Given the description of an element on the screen output the (x, y) to click on. 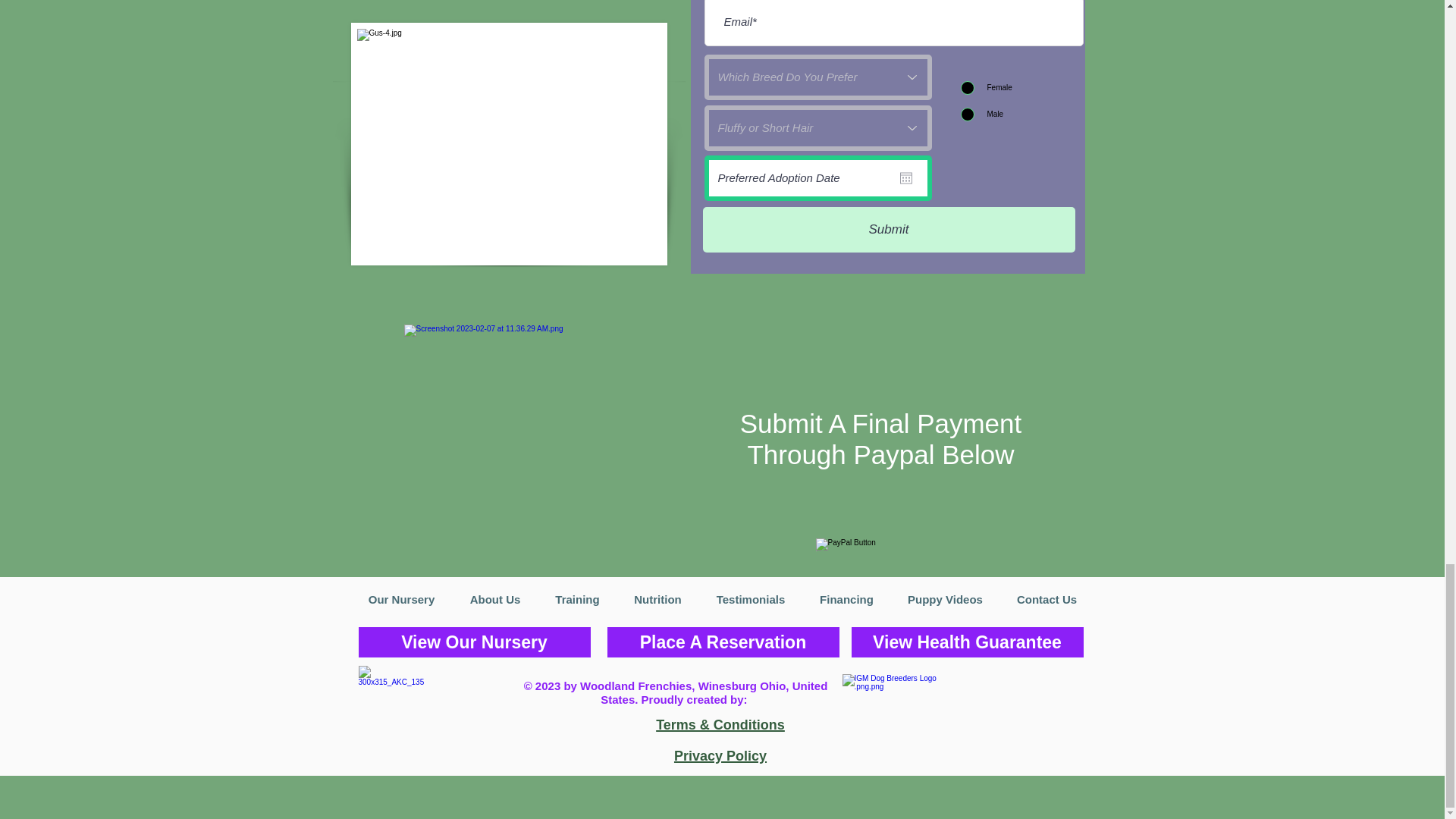
Our Nursery (400, 599)
About Us (494, 599)
Training (577, 599)
Submit (887, 229)
